Given the description of an element on the screen output the (x, y) to click on. 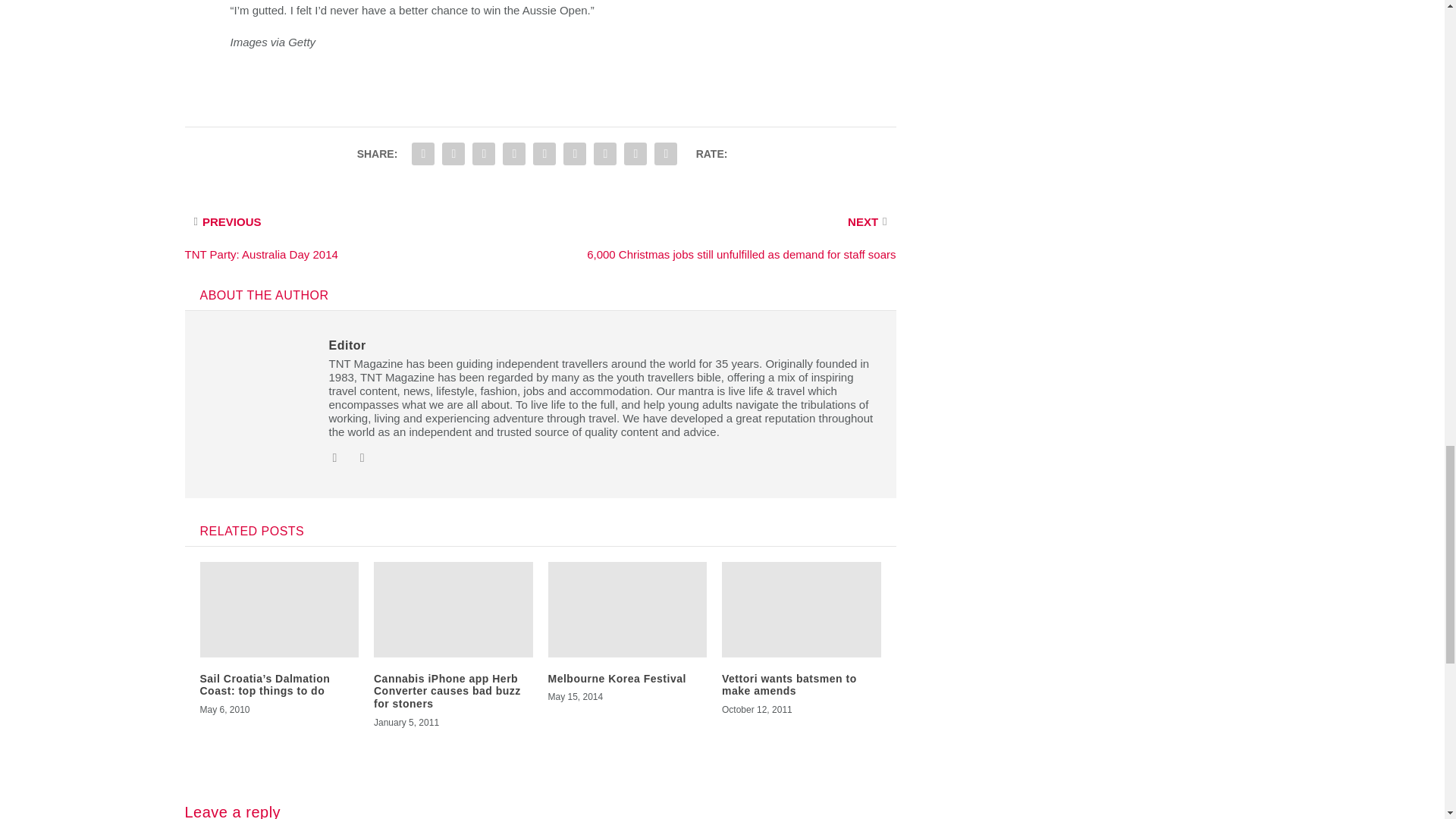
Editor (347, 345)
Vettori wants batsmen to make amends (789, 684)
Melbourne Korea Festival (616, 678)
